Given the description of an element on the screen output the (x, y) to click on. 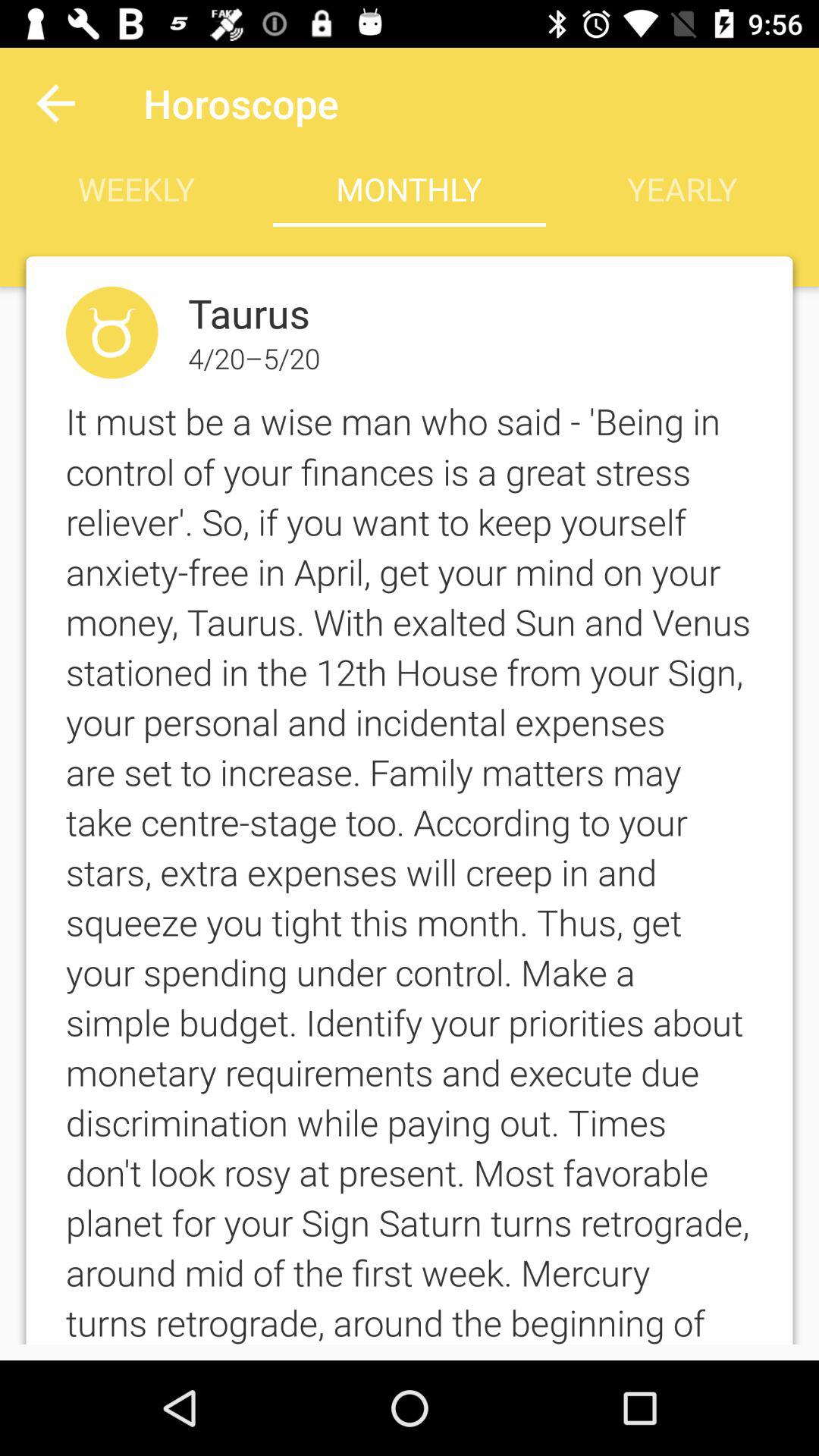
turn off the icon to the left of the horoscope item (55, 103)
